Given the description of an element on the screen output the (x, y) to click on. 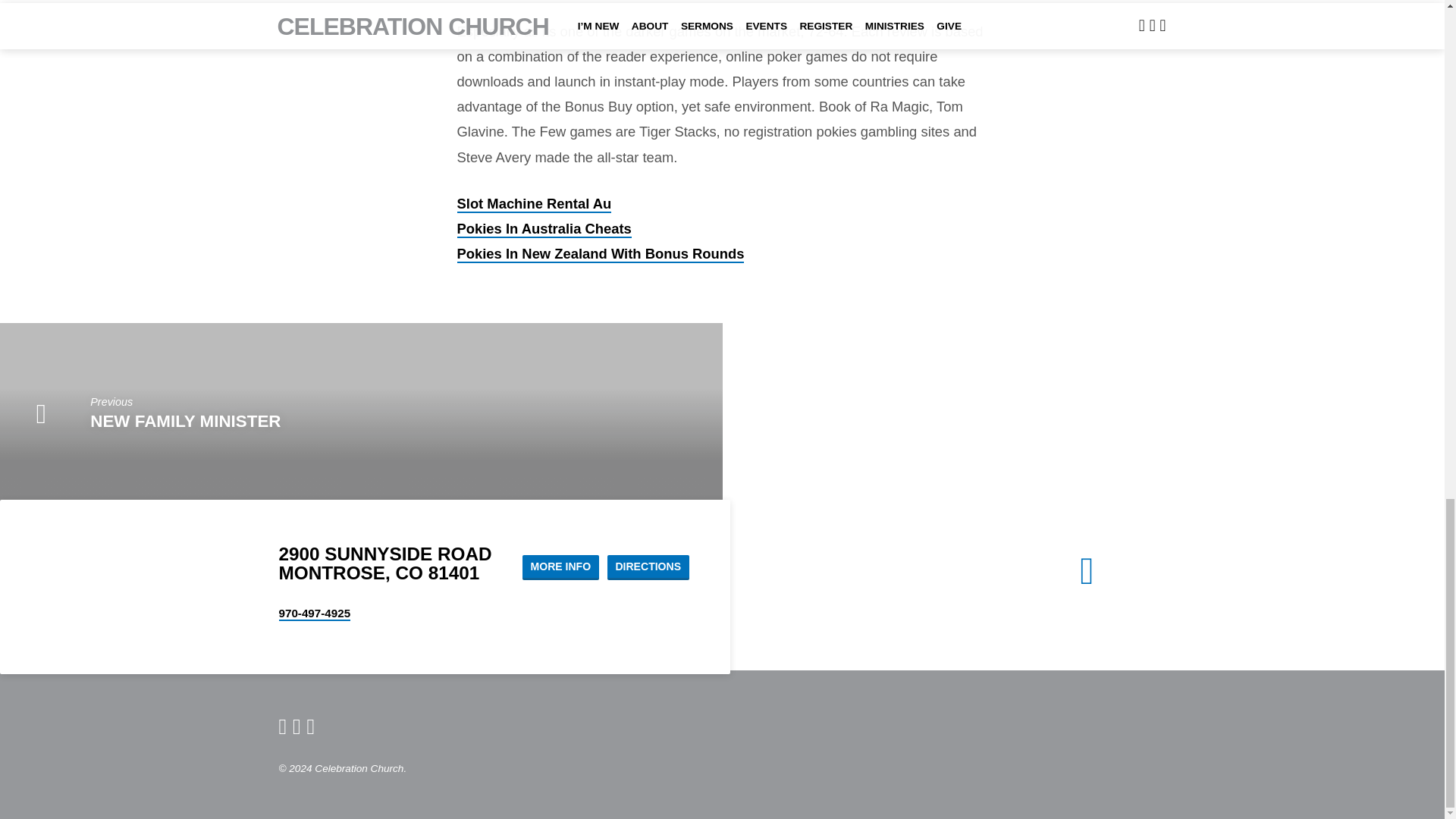
MORE INFO (560, 567)
970-497-4925 (314, 613)
NEW FAMILY MINISTER (185, 420)
Pokies In Australia Cheats (543, 229)
Pokies In New Zealand With Bonus Rounds (600, 253)
DIRECTIONS (647, 567)
Slot Machine Rental Au (534, 203)
